Given the description of an element on the screen output the (x, y) to click on. 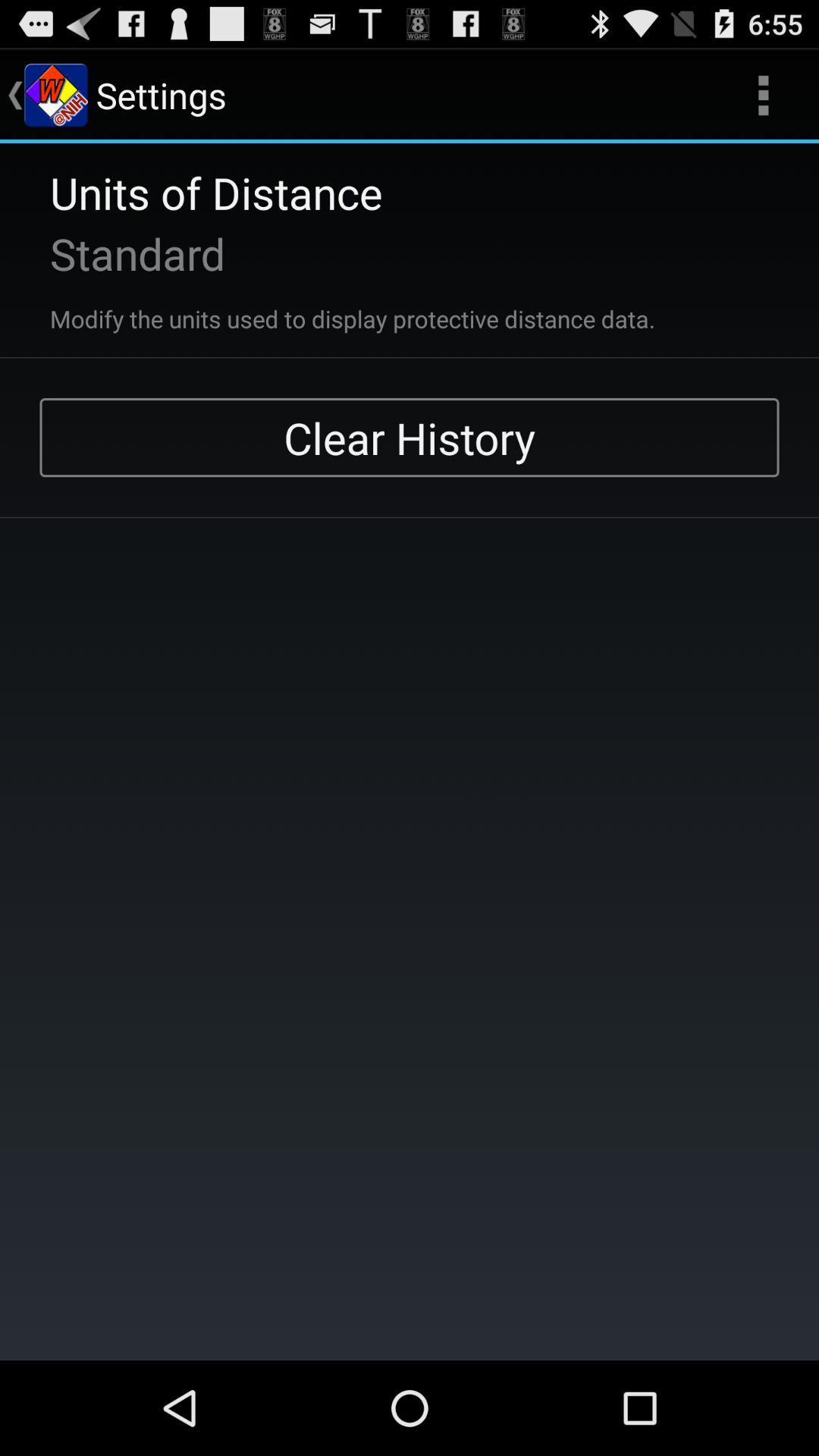
swipe to the modify the units (332, 309)
